Given the description of an element on the screen output the (x, y) to click on. 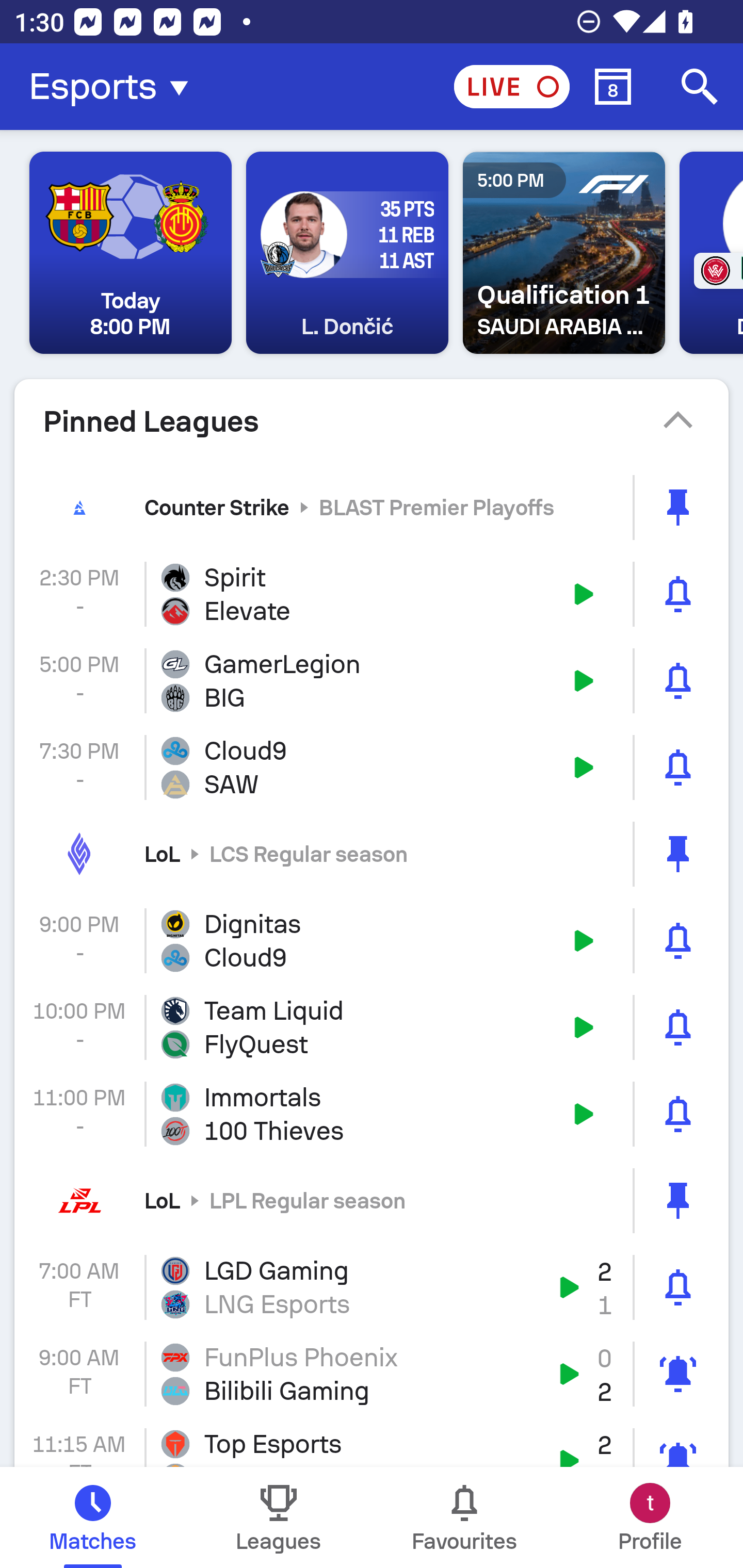
Esports (114, 86)
Calendar (612, 86)
Search (699, 86)
Today
8:00 PM (130, 253)
35 PTS
11 REB
11 AST L. Dončić (346, 253)
Pinned Leagues (371, 421)
Counter Strike BLAST Premier Playoffs (371, 507)
2:30 PM - Spirit Elevate (371, 594)
5:00 PM - GamerLegion BIG (371, 681)
7:30 PM - Cloud9 SAW (371, 767)
LoL LCS Regular season (371, 853)
9:00 PM - Dignitas Cloud9 (371, 940)
10:00 PM - Team Liquid FlyQuest (371, 1027)
11:00 PM - Immortals 100 Thieves (371, 1113)
LoL LPL Regular season (371, 1200)
7:00 AM FT LGD Gaming LNG Esports 2 1 (371, 1287)
9:00 AM FT FunPlus Phoenix Bilibili Gaming 0 2 (371, 1374)
Leagues (278, 1517)
Favourites (464, 1517)
Profile (650, 1517)
